Given the description of an element on the screen output the (x, y) to click on. 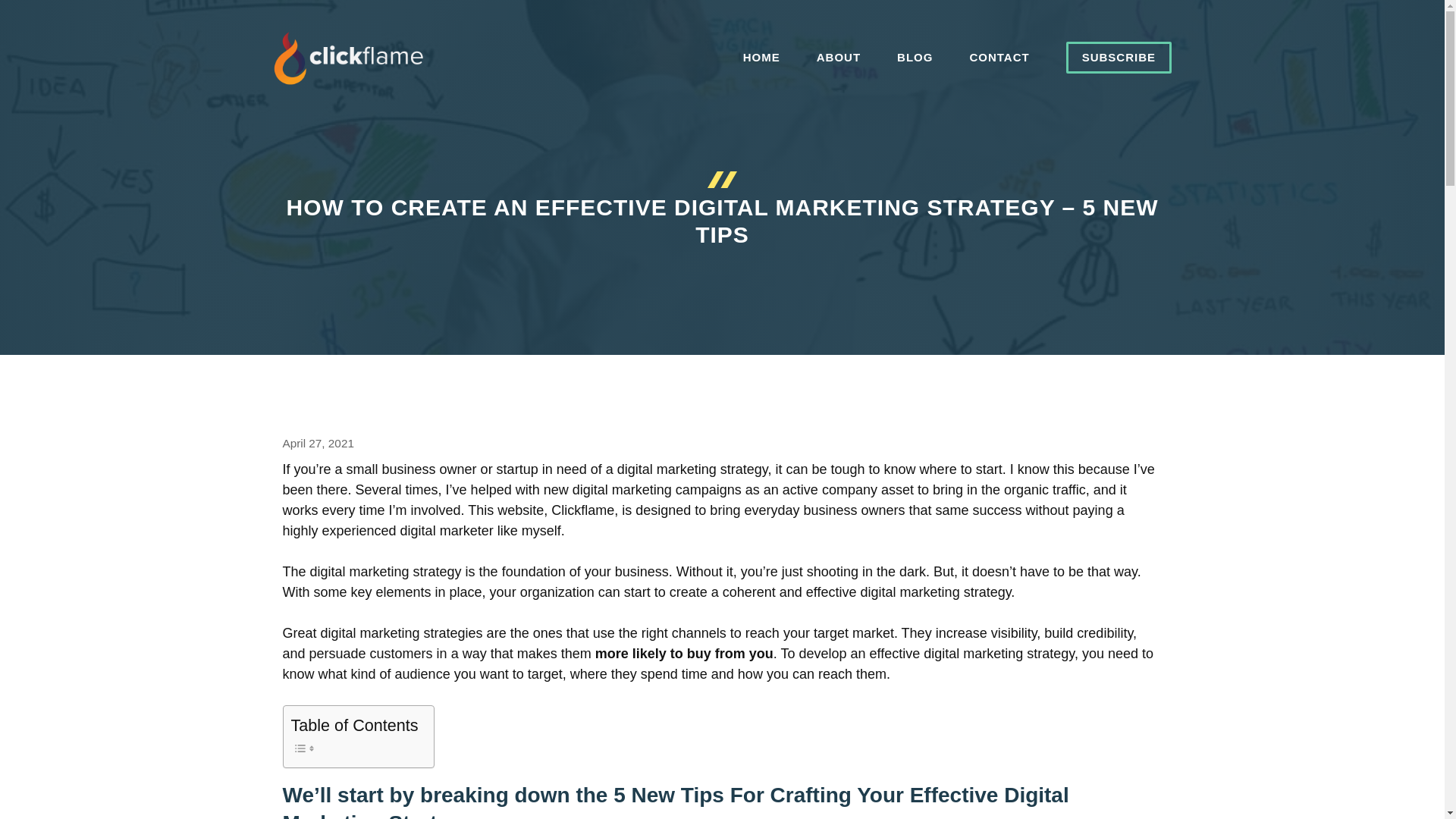
CONTACT (998, 57)
ABOUT (838, 57)
BLOG (914, 57)
SUBSCRIBE (1118, 57)
HOME (761, 57)
